Given the description of an element on the screen output the (x, y) to click on. 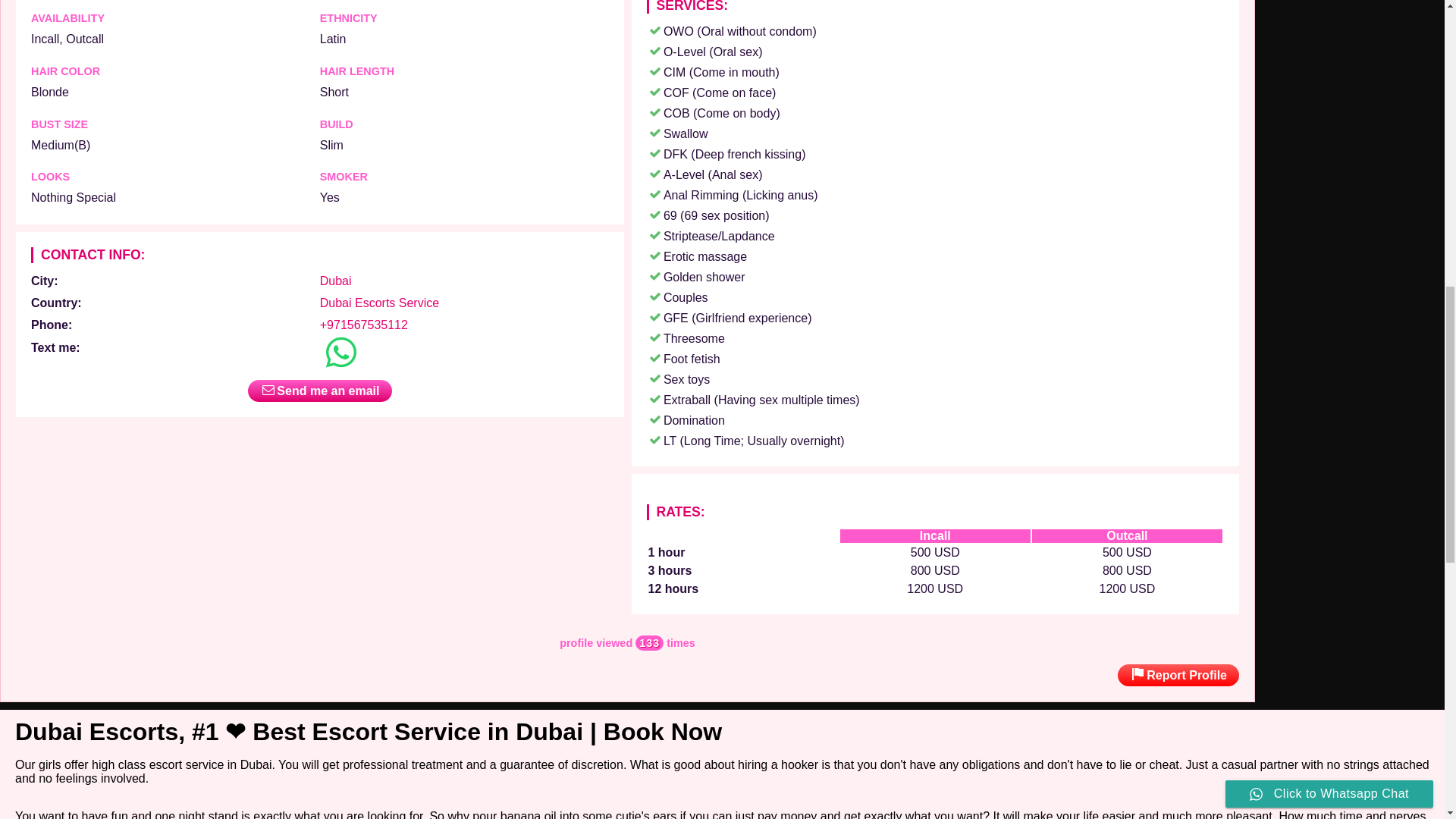
Dubai Escorts Service (379, 302)
Dubai (336, 280)
Dubai Escorts Service (379, 302)
Dubai (336, 280)
